Given the description of an element on the screen output the (x, y) to click on. 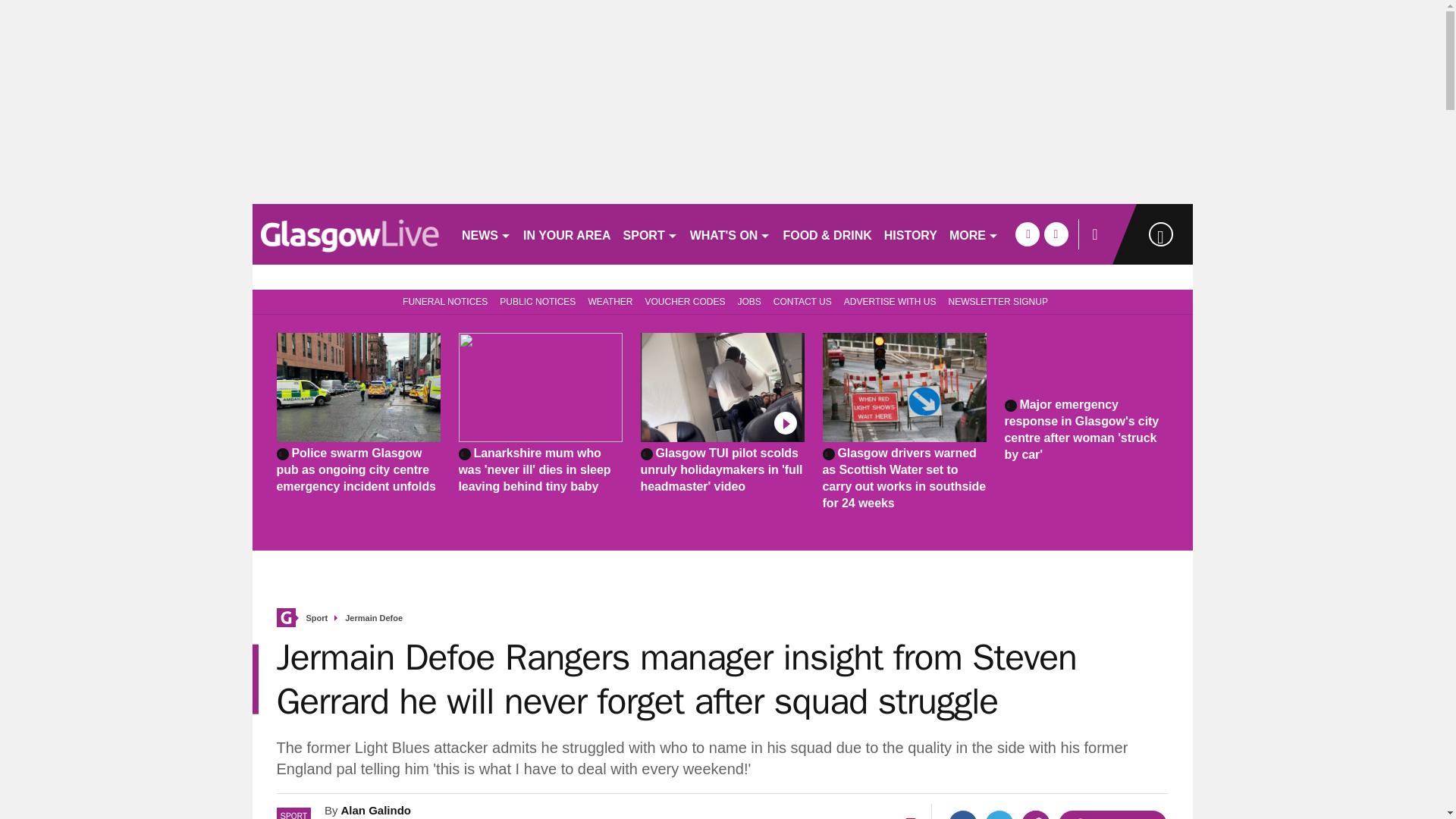
facebook (1026, 233)
Facebook (962, 814)
WHAT'S ON (730, 233)
Comments (1112, 814)
SPORT (650, 233)
twitter (1055, 233)
glasgowlive (349, 233)
NEWS (485, 233)
Twitter (999, 814)
HISTORY (910, 233)
